Given the description of an element on the screen output the (x, y) to click on. 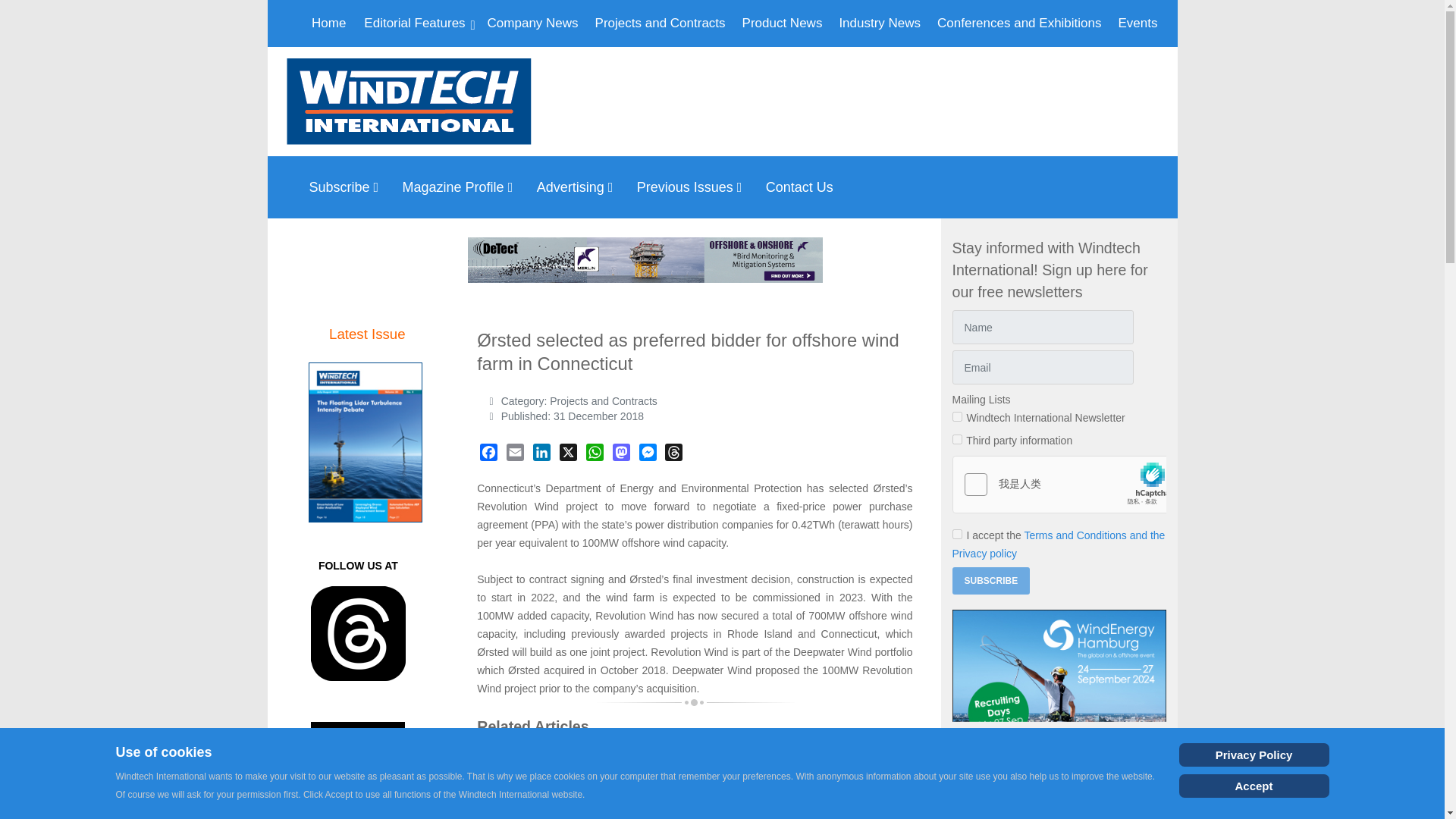
Subscribe (347, 186)
Home (328, 22)
Projects and Contracts (660, 22)
Events (1138, 22)
Previous Issues (693, 186)
on (957, 533)
Conferences and Exhibitions (1019, 22)
Subscribe (991, 580)
Company News (533, 22)
Magazine Profile (461, 186)
